Given the description of an element on the screen output the (x, y) to click on. 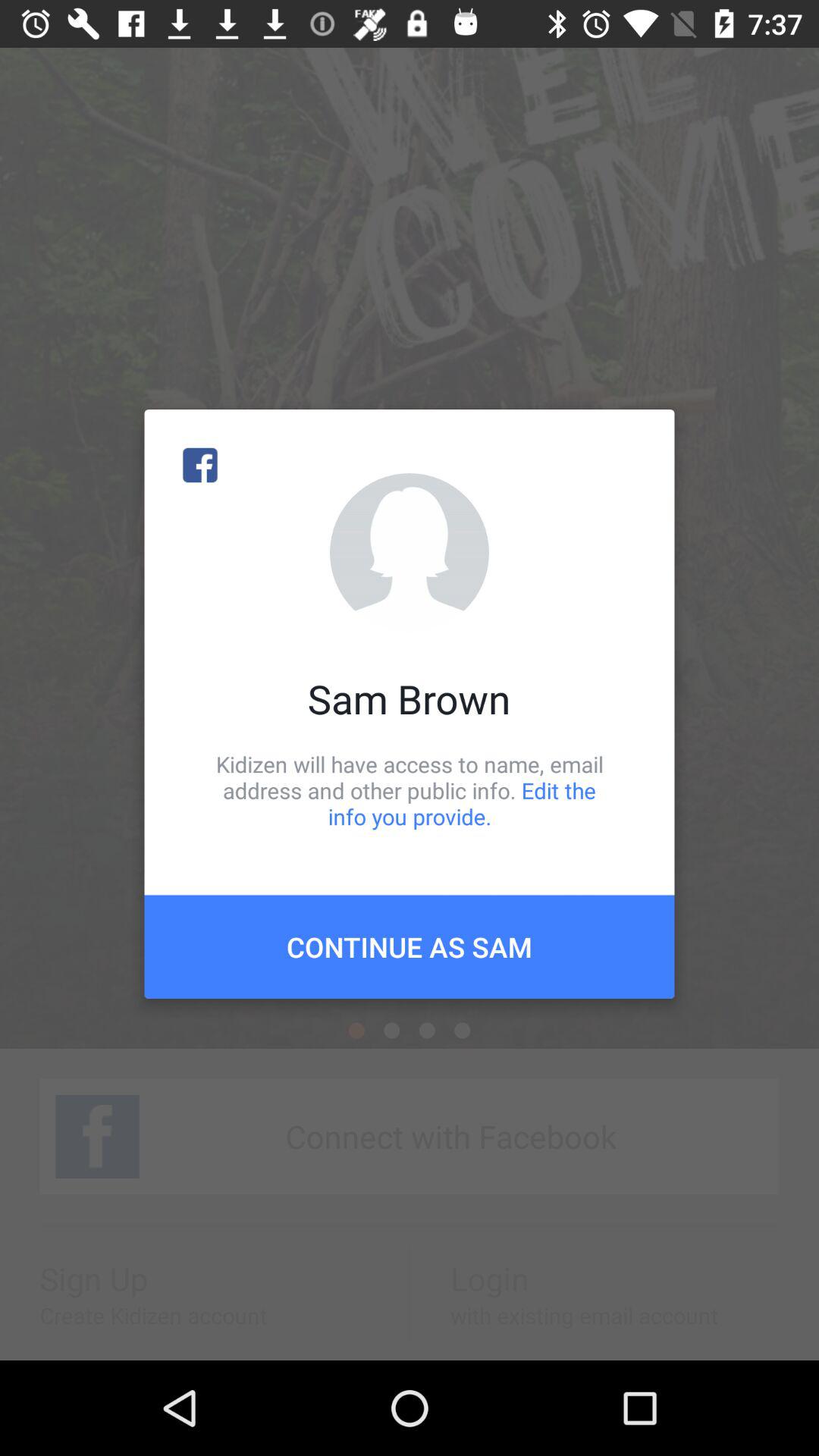
open icon below kidizen will have item (409, 946)
